Given the description of an element on the screen output the (x, y) to click on. 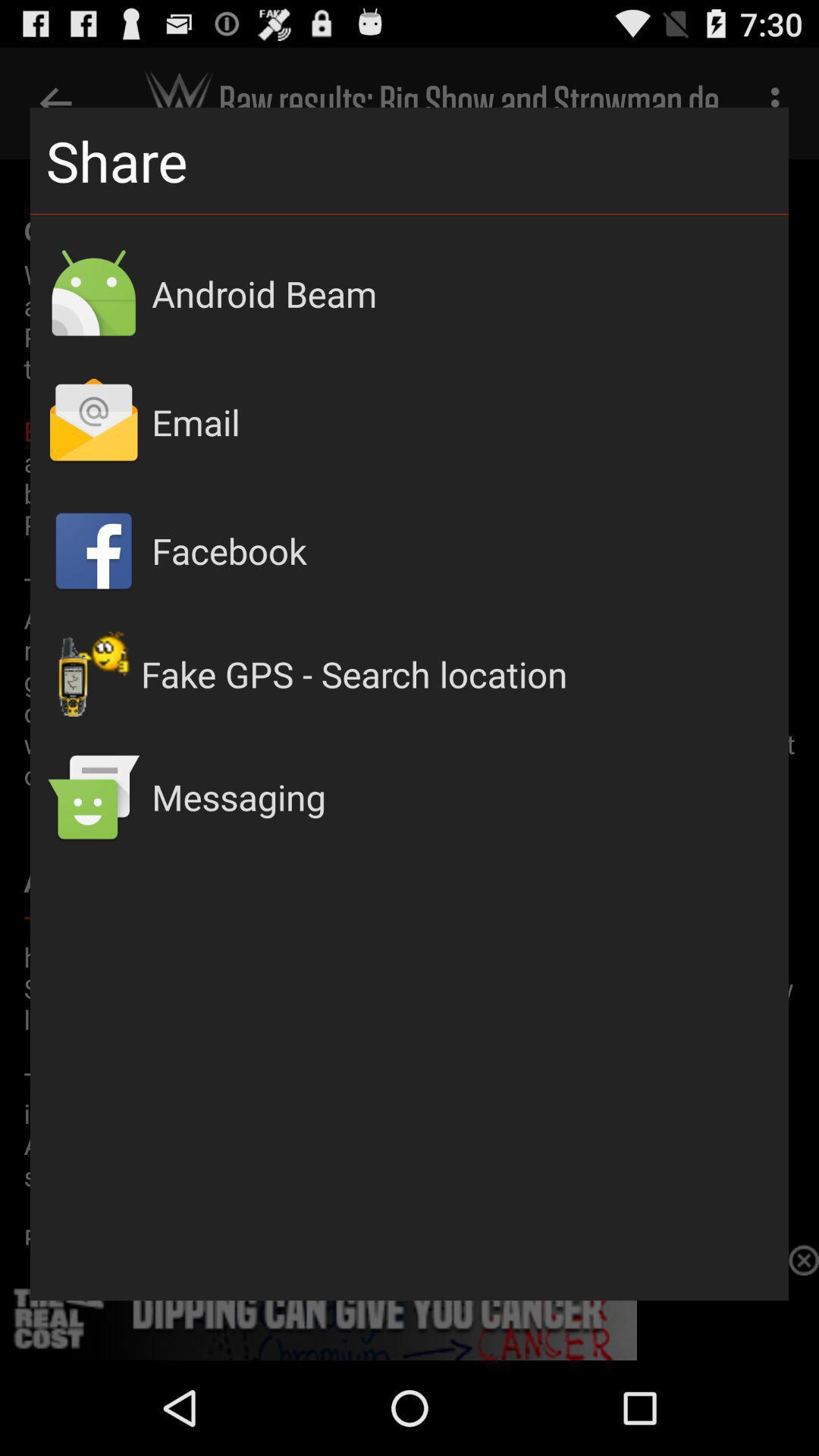
select facebook item (461, 550)
